Given the description of an element on the screen output the (x, y) to click on. 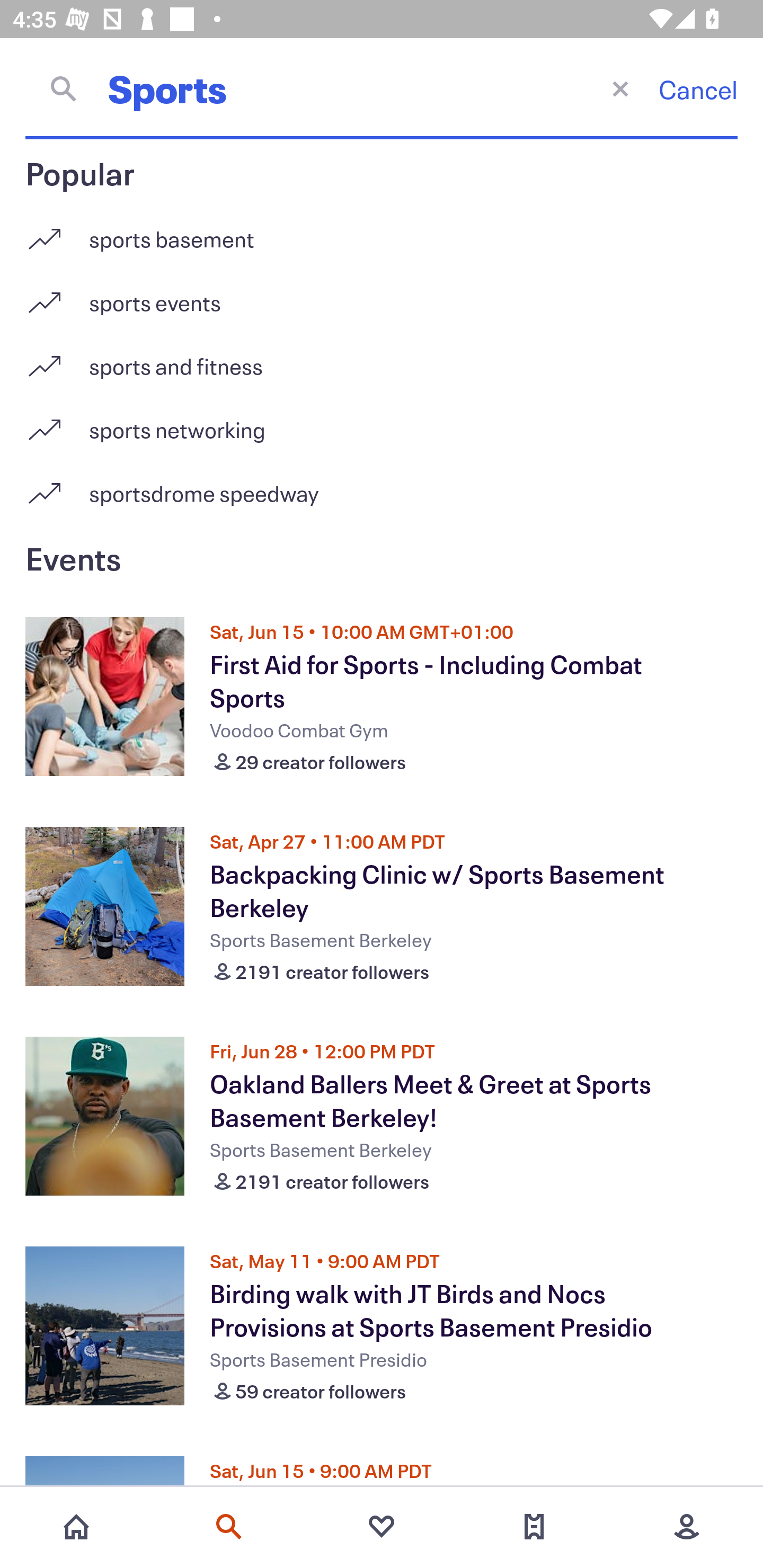
Sports Close current screen Cancel (381, 88)
Close current screen (620, 88)
Cancel (697, 89)
sports basement (381, 231)
sports events (381, 295)
sports and fitness (381, 358)
sports networking (381, 422)
sportsdrome speedway (381, 492)
Home (76, 1526)
Search events (228, 1526)
Favorites (381, 1526)
Tickets (533, 1526)
More (686, 1526)
